Given the description of an element on the screen output the (x, y) to click on. 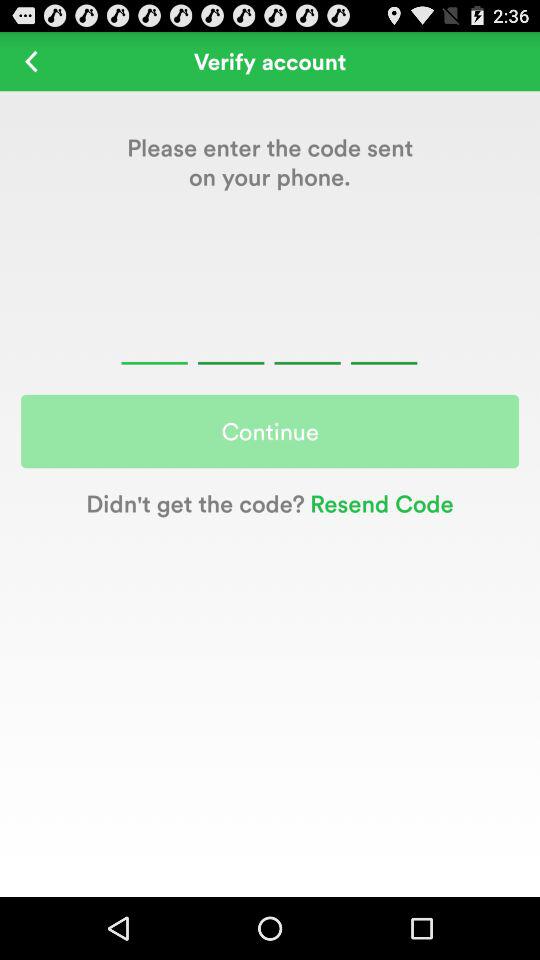
choose icon above the continue item (31, 60)
